Given the description of an element on the screen output the (x, y) to click on. 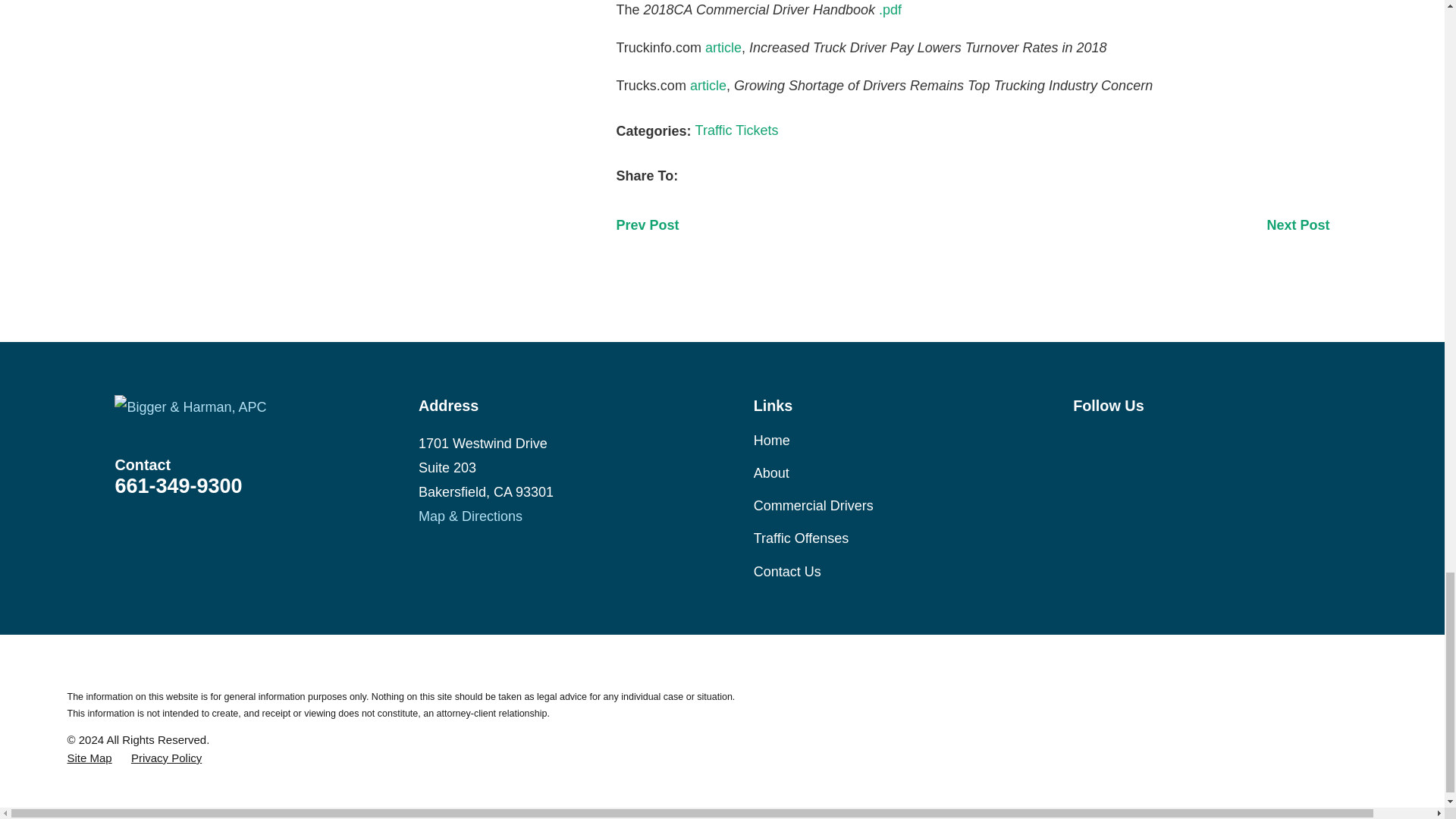
Avvo (1201, 440)
Home (267, 406)
Facebook (1121, 440)
Twitter (1162, 440)
Google Business Profile (1082, 440)
Yelp (1240, 440)
